Given the description of an element on the screen output the (x, y) to click on. 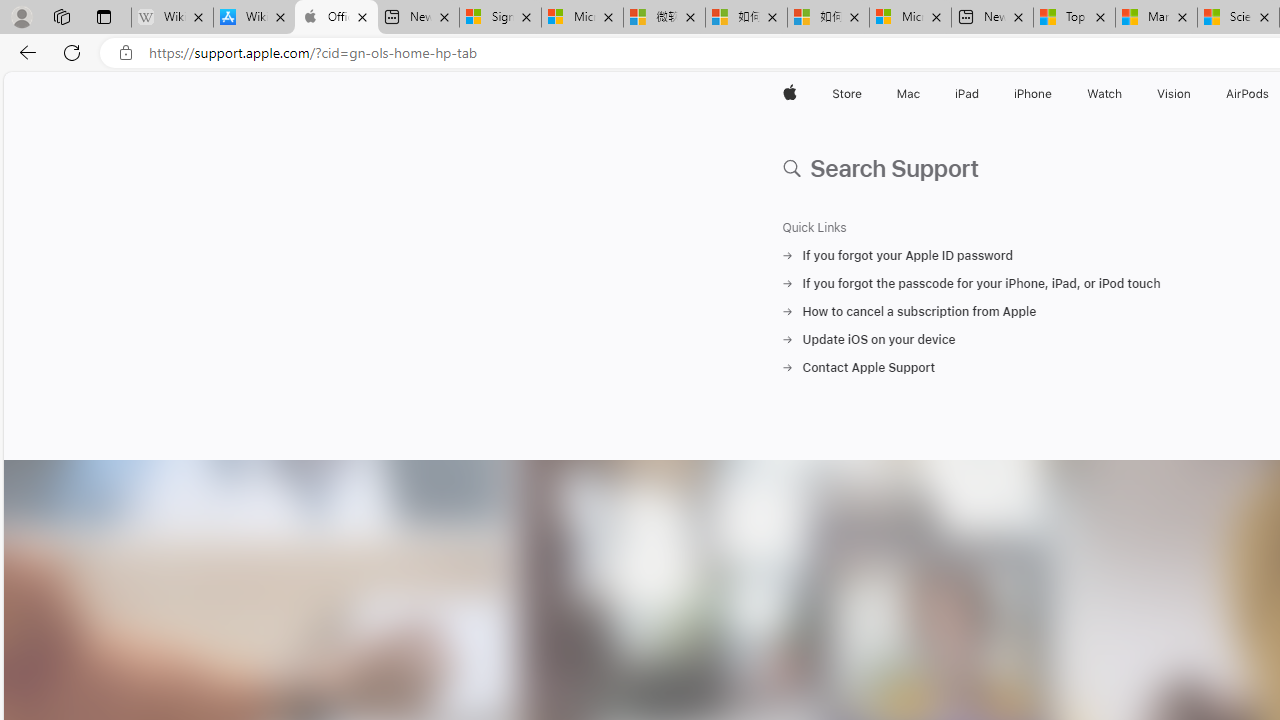
iPhone (1033, 93)
AirPods (1247, 93)
Official Apple Support (336, 17)
Apple (789, 93)
Watch menu (1125, 93)
iPad menu (982, 93)
Class: globalnav-submenu-trigger-item (1195, 93)
Mac (908, 93)
